Given the description of an element on the screen output the (x, y) to click on. 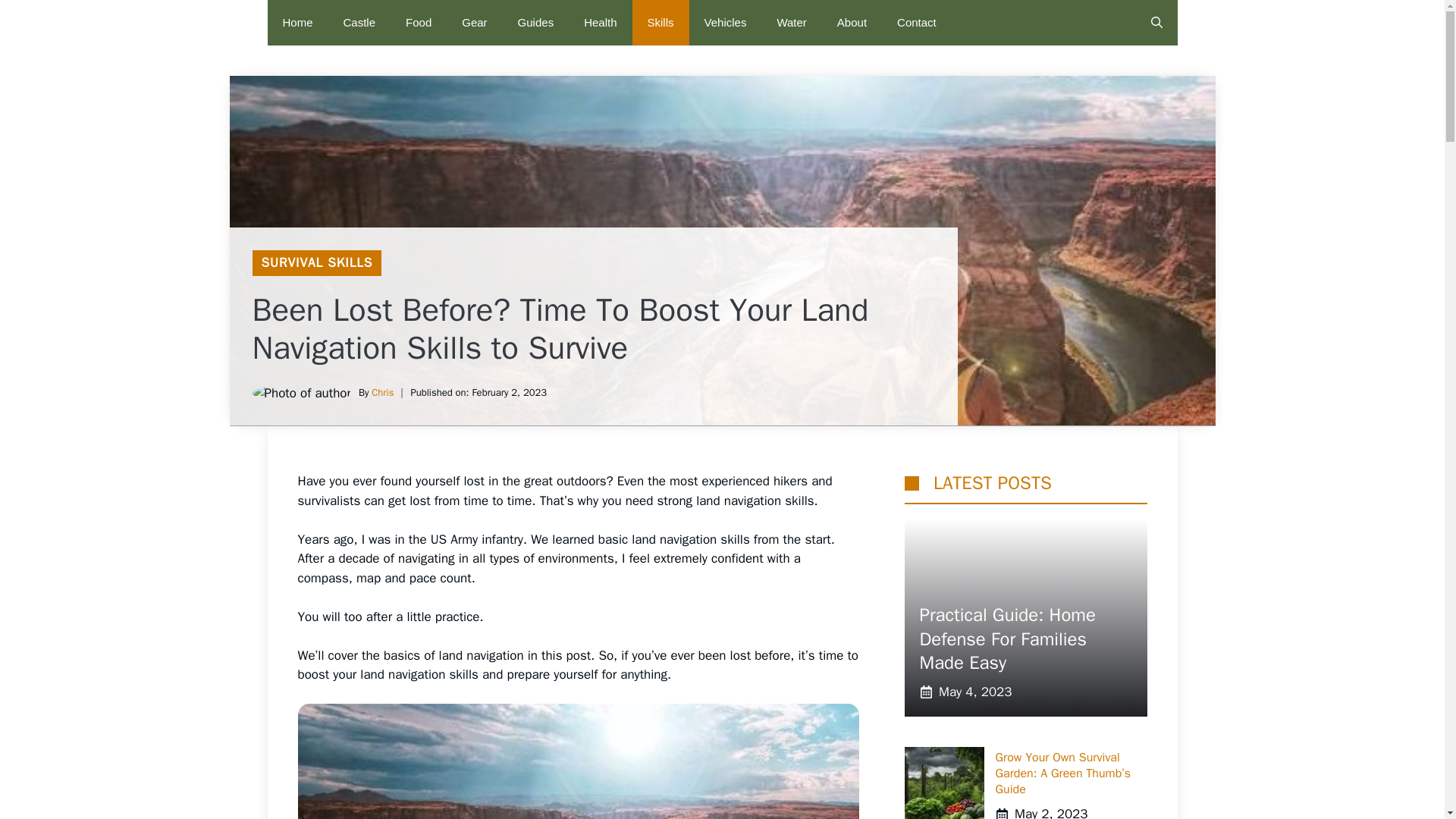
Skills (659, 22)
Vehicles (724, 22)
About (852, 22)
Contact (917, 22)
Guides (535, 22)
Home (296, 22)
SURVIVAL SKILLS (316, 262)
Water (791, 22)
Practical Guide: Home Defense For Families Made Easy (1006, 638)
Chris (382, 391)
Food (418, 22)
Castle (360, 22)
Health (600, 22)
Gear (474, 22)
SORRY, YOUR BROWSER DOES NOT SUPPORT INLINE SVG. (911, 482)
